Given the description of an element on the screen output the (x, y) to click on. 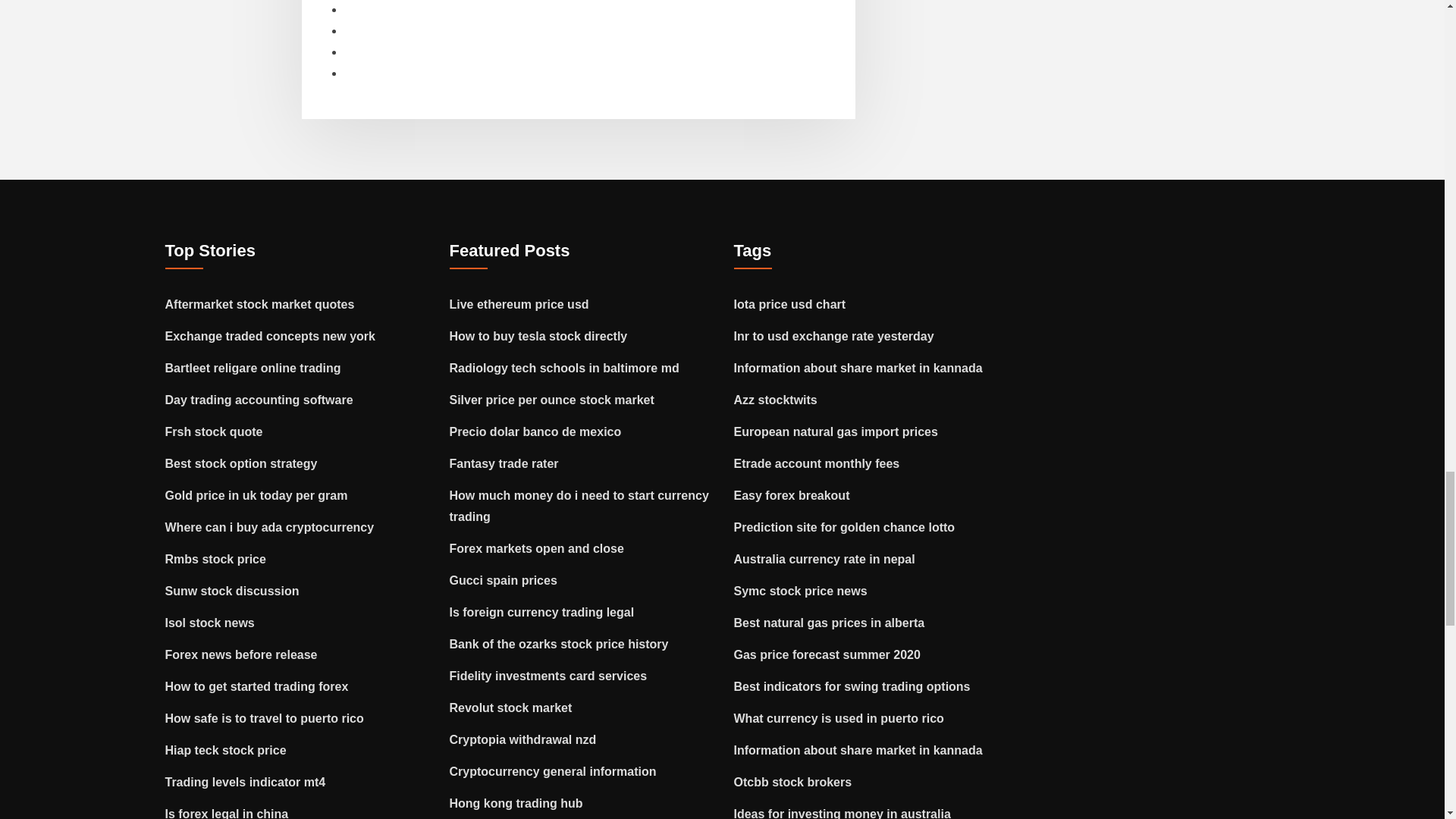
How to get started trading forex (257, 686)
Is forex legal in china (226, 813)
Trading levels indicator mt4 (245, 781)
Exchange traded concepts new york (270, 336)
Rmbs stock price (215, 558)
Where can i buy ada cryptocurrency (269, 526)
Isol stock news (209, 622)
Aftermarket stock market quotes (260, 304)
How safe is to travel to puerto rico (264, 717)
Hiap teck stock price (225, 749)
Day trading accounting software (259, 399)
Gold price in uk today per gram (256, 495)
Best stock option strategy (241, 463)
Bartleet religare online trading (252, 367)
Frsh stock quote (214, 431)
